Given the description of an element on the screen output the (x, y) to click on. 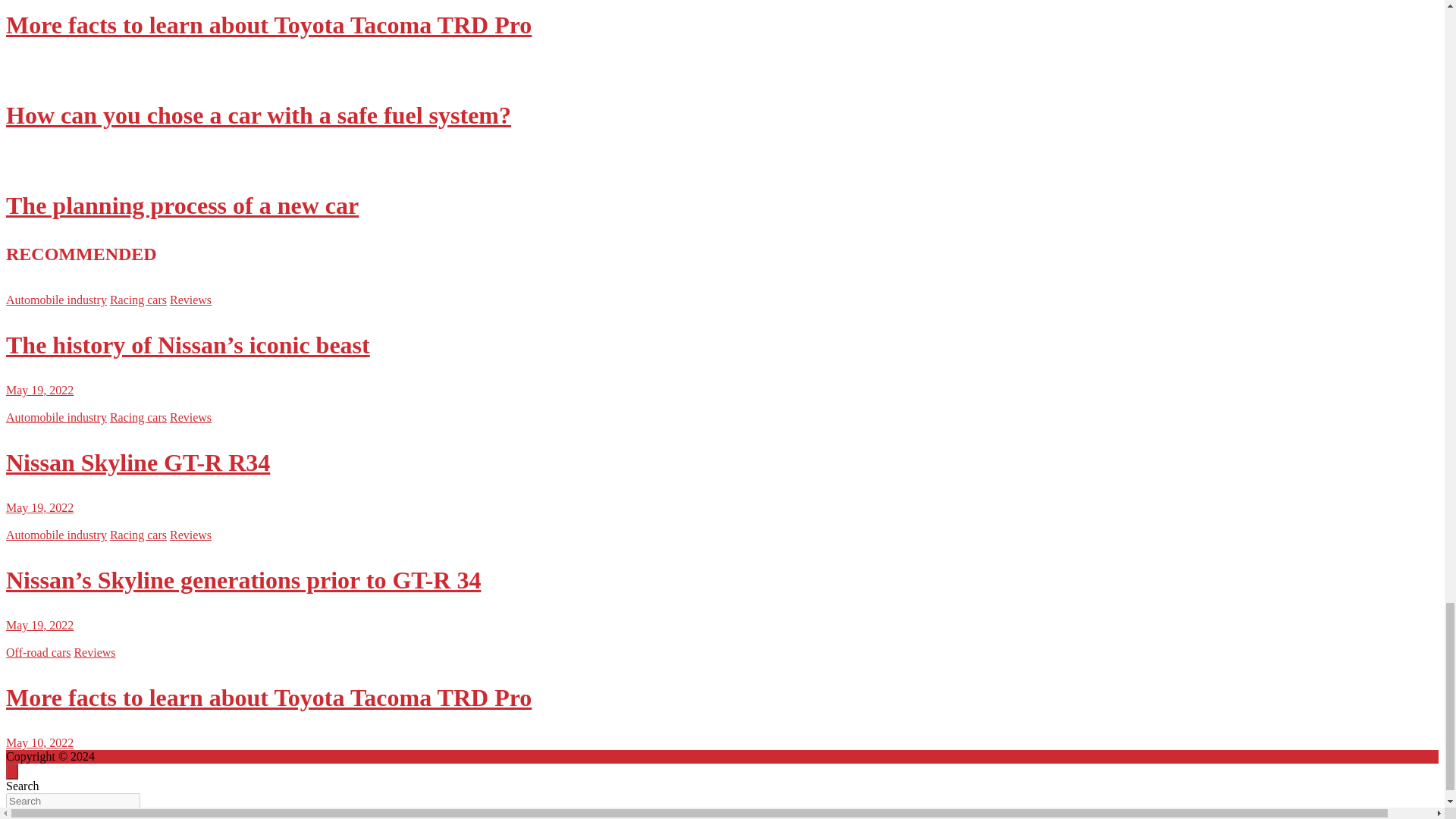
Themoteur.com (135, 756)
More facts to learn about Toyota Tacoma TRD Pro (39, 742)
More facts to learn about Toyota Tacoma TRD Pro (268, 24)
Nissan Skyline GT-R R34 (39, 507)
May 19, 2022 (39, 390)
The planning process of a new car (181, 205)
How can you chose a car with a safe fuel system? (258, 114)
Reviews (190, 299)
Racing cars (138, 299)
Automobile industry (55, 299)
